Given the description of an element on the screen output the (x, y) to click on. 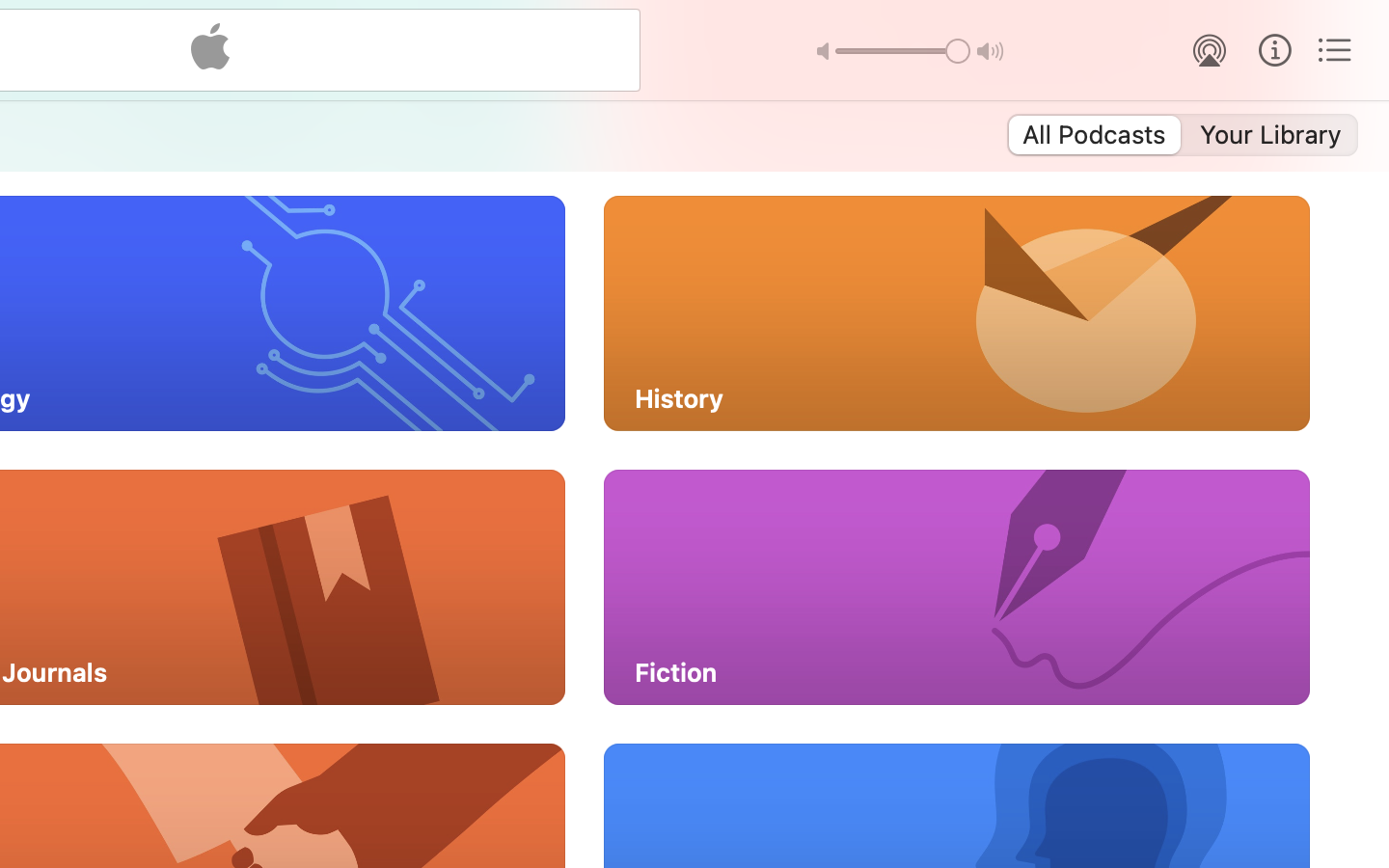
1.0 Element type: AXSlider (902, 50)
1 Element type: AXRadioButton (1092, 134)
0 Element type: AXRadioButton (1271, 134)
